Given the description of an element on the screen output the (x, y) to click on. 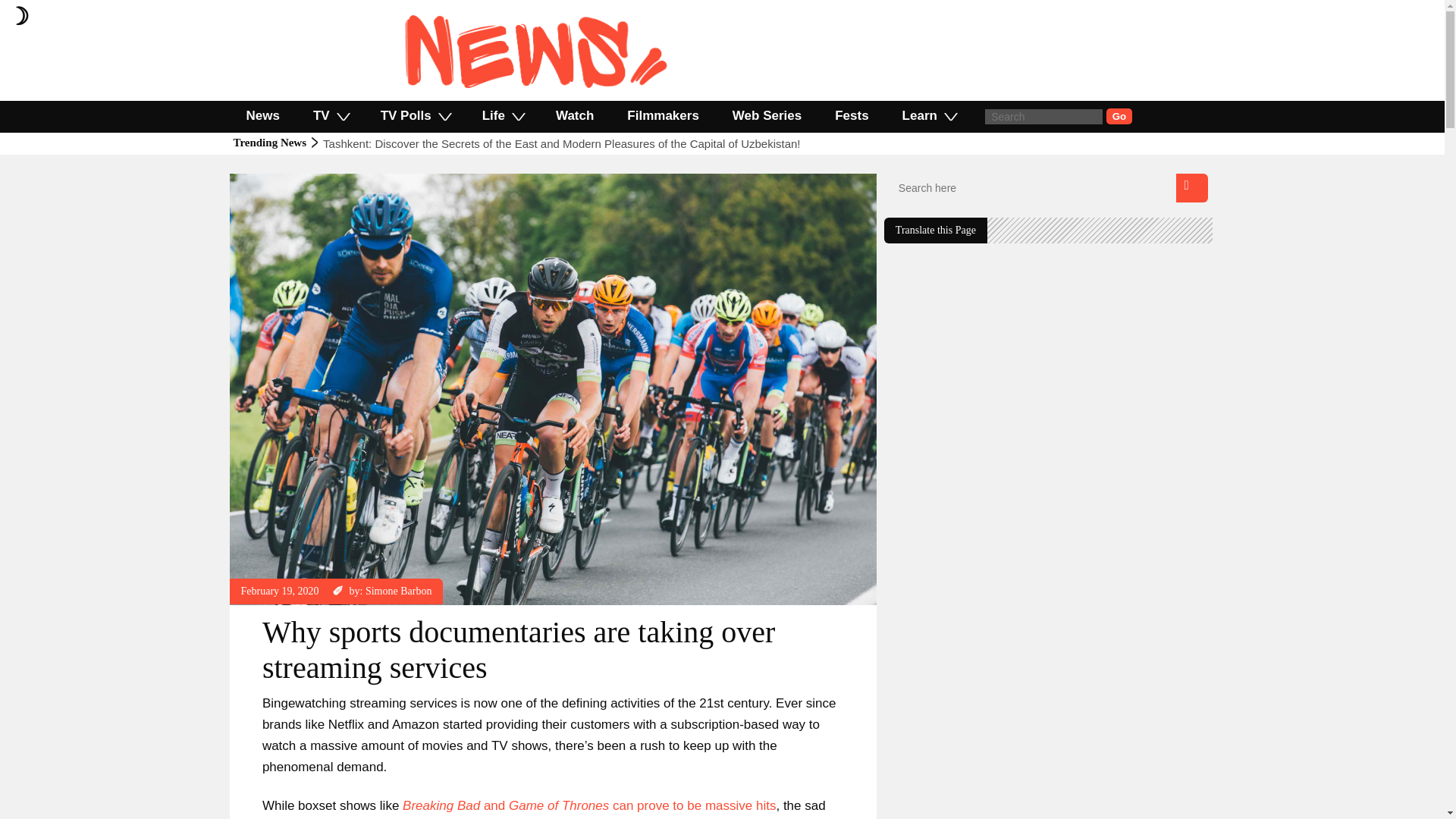
Learn (928, 115)
Go (1119, 116)
Lifestyle (259, 180)
Web Series (767, 115)
Fests (851, 115)
TV (330, 115)
News (297, 180)
Watch (574, 115)
Life (501, 115)
